Given the description of an element on the screen output the (x, y) to click on. 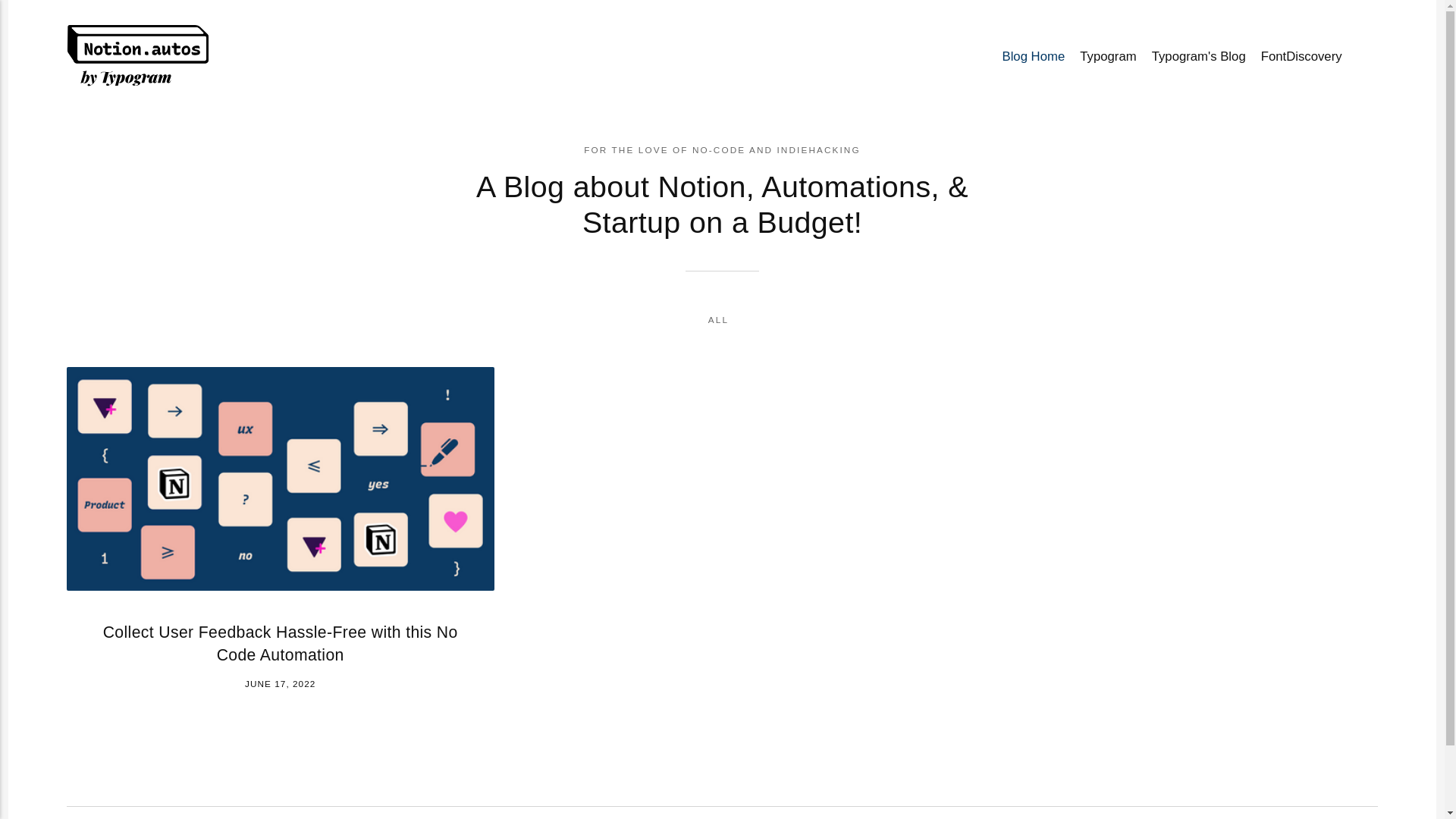
Blog Home Element type: text (1033, 57)
Typogram's Blog Element type: text (1198, 57)
FontDiscovery Element type: text (1301, 57)
ALL Element type: text (718, 319)
Typogram Element type: text (1107, 57)
